Given the description of an element on the screen output the (x, y) to click on. 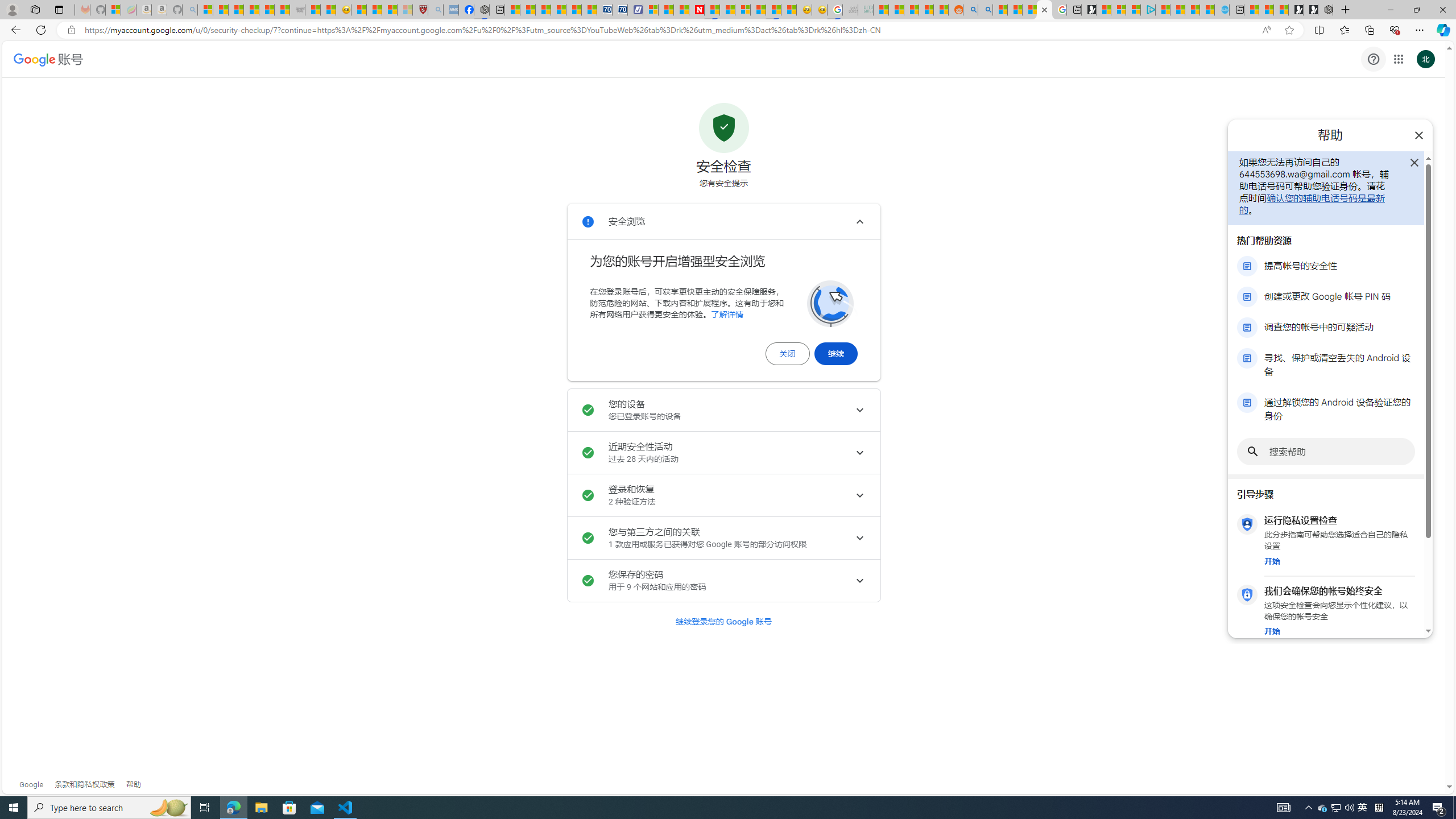
Cheap Car Rentals - Save70.com (604, 9)
Recipes - MSN (358, 9)
